Given the description of an element on the screen output the (x, y) to click on. 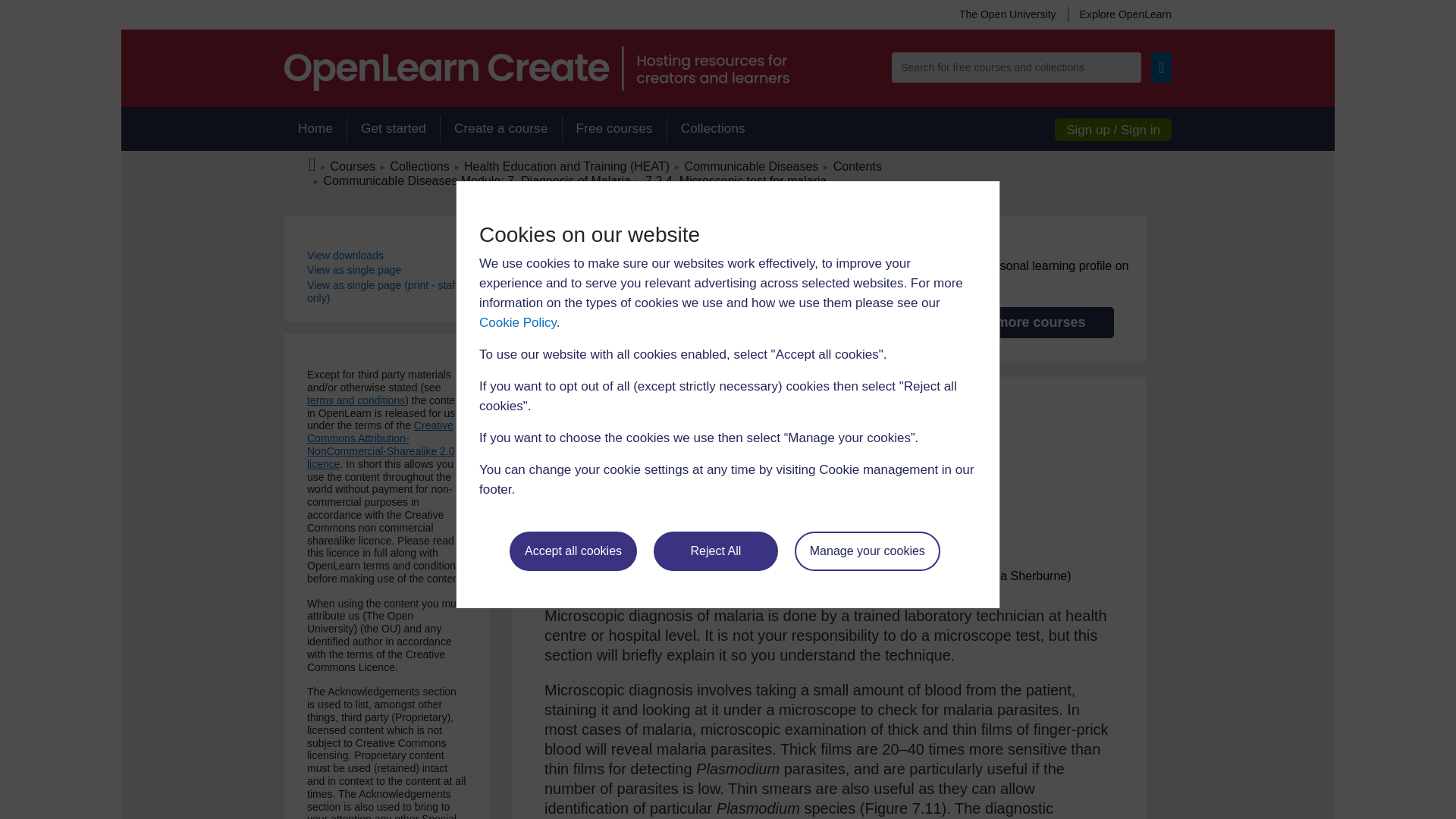
Explore OpenLearn (1119, 14)
The Open University (1007, 14)
Create a course (500, 128)
Free courses (614, 128)
Explore OpenLearn (1119, 14)
Cookie Policy (517, 322)
Manage your cookies (867, 550)
Get started (392, 128)
Search (1161, 67)
Accept all cookies (573, 550)
Search (1161, 67)
OpenLearn Create (536, 67)
SC Web Editor (476, 180)
Home (314, 128)
Reject All (715, 550)
